Given the description of an element on the screen output the (x, y) to click on. 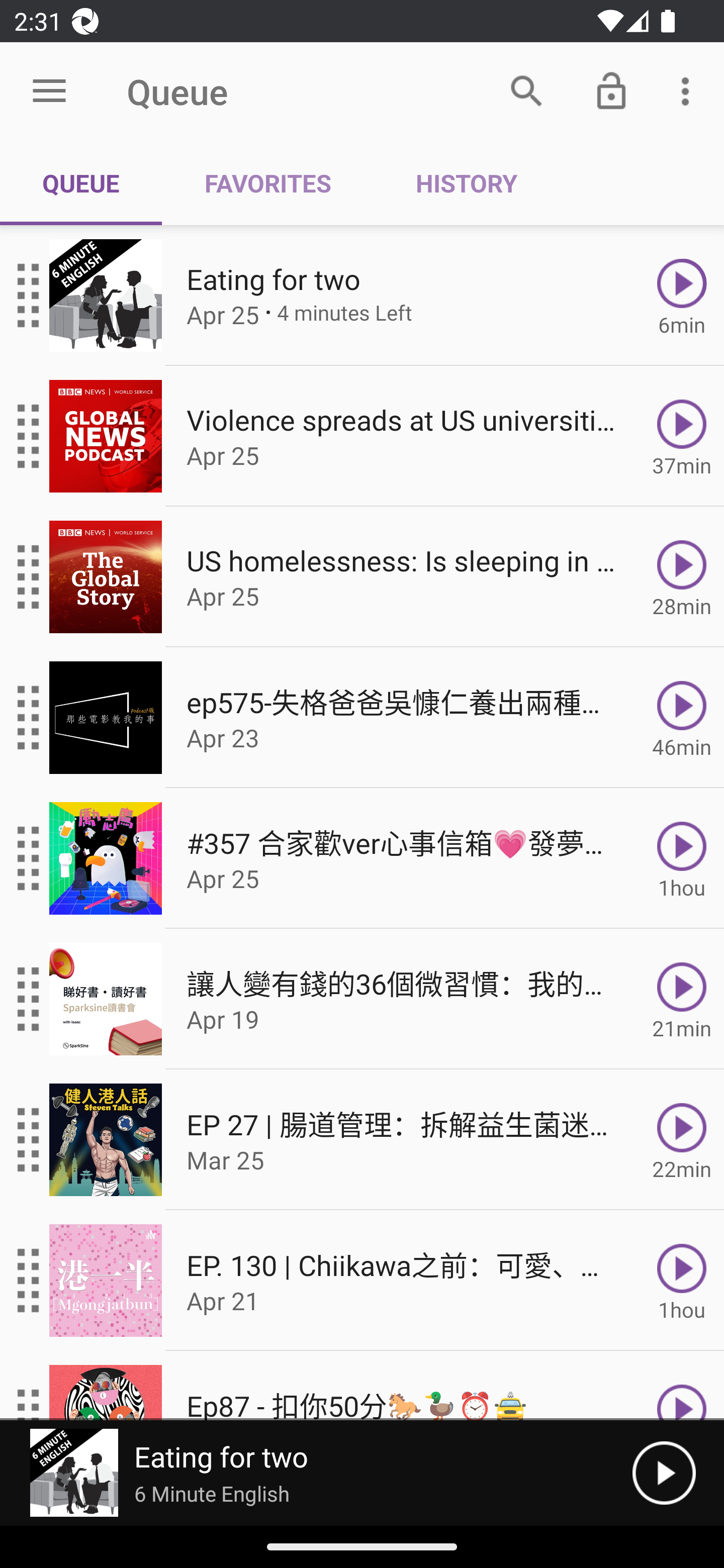
Open menu (49, 91)
Search (526, 90)
Lock Queue (611, 90)
More options (688, 90)
QUEUE (81, 183)
FAVORITES (267, 183)
HISTORY (465, 183)
Play 6min (681, 295)
Play 37min (681, 435)
Play 28min (681, 576)
Play 46min (681, 717)
Play 1hou (681, 858)
Play 21min (681, 998)
Play 22min (681, 1139)
Play 1hou (681, 1280)
Play (681, 1385)
Picture Eating for two 6 Minute English (316, 1472)
Play (663, 1472)
